Given the description of an element on the screen output the (x, y) to click on. 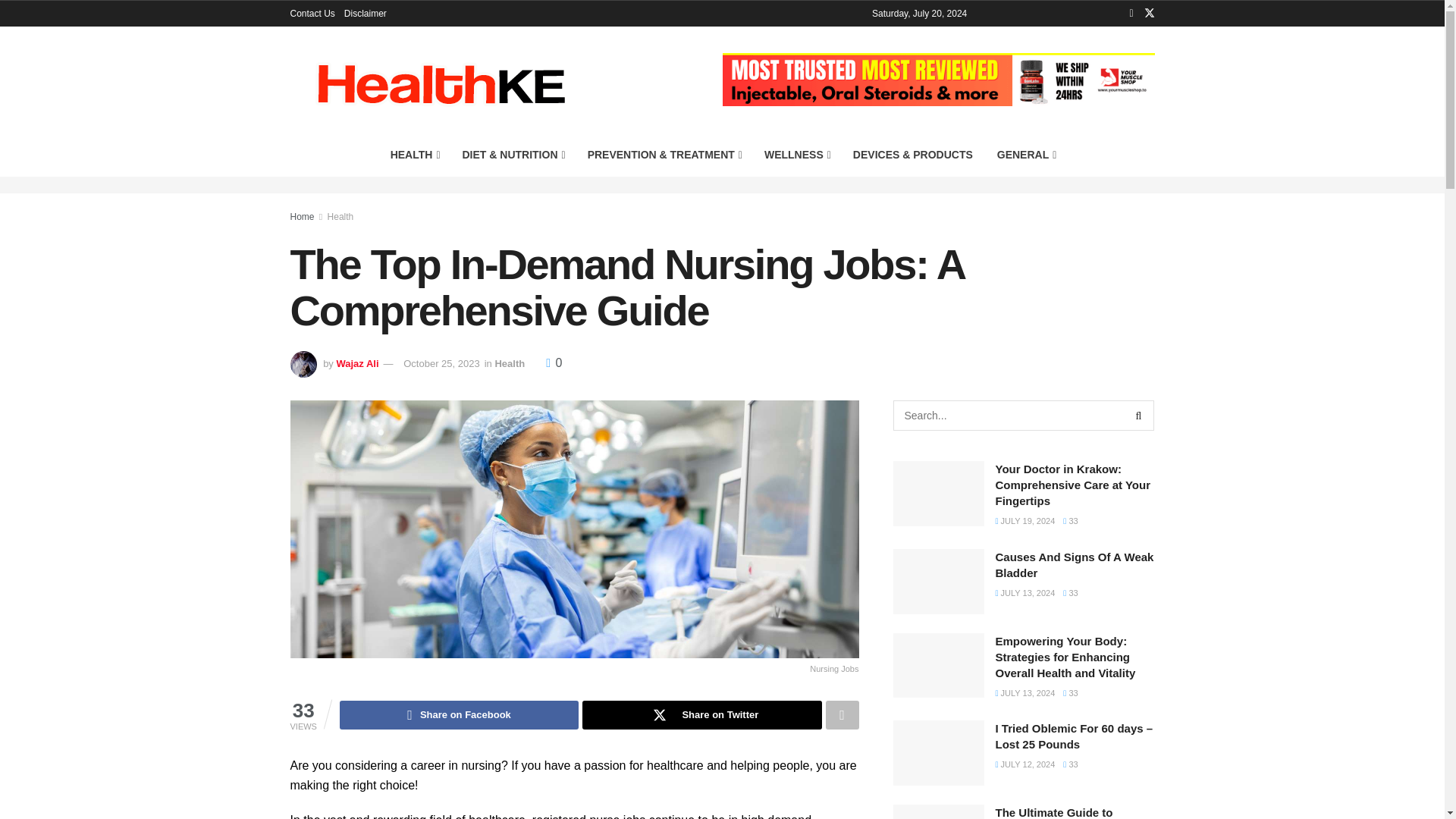
Disclaimer (365, 13)
HEALTH (413, 154)
GENERAL (1026, 154)
WELLNESS (796, 154)
Contact Us (311, 13)
